Given the description of an element on the screen output the (x, y) to click on. 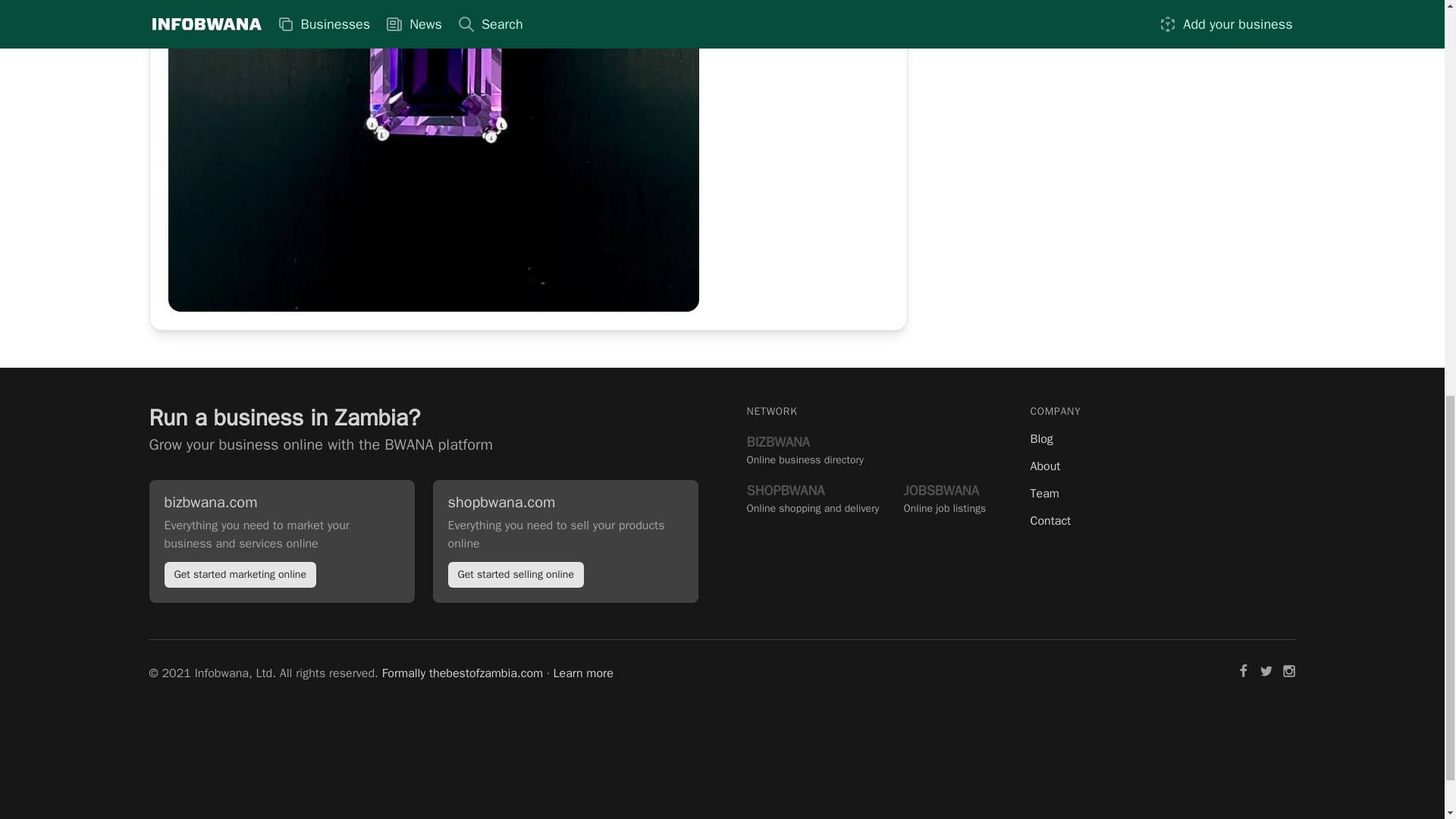
Get started selling online (514, 574)
Grow your business online with the BWANA platform (320, 444)
Get started marketing online (945, 497)
Blog (804, 448)
Team (239, 574)
About (812, 497)
Contact (1162, 437)
